Given the description of an element on the screen output the (x, y) to click on. 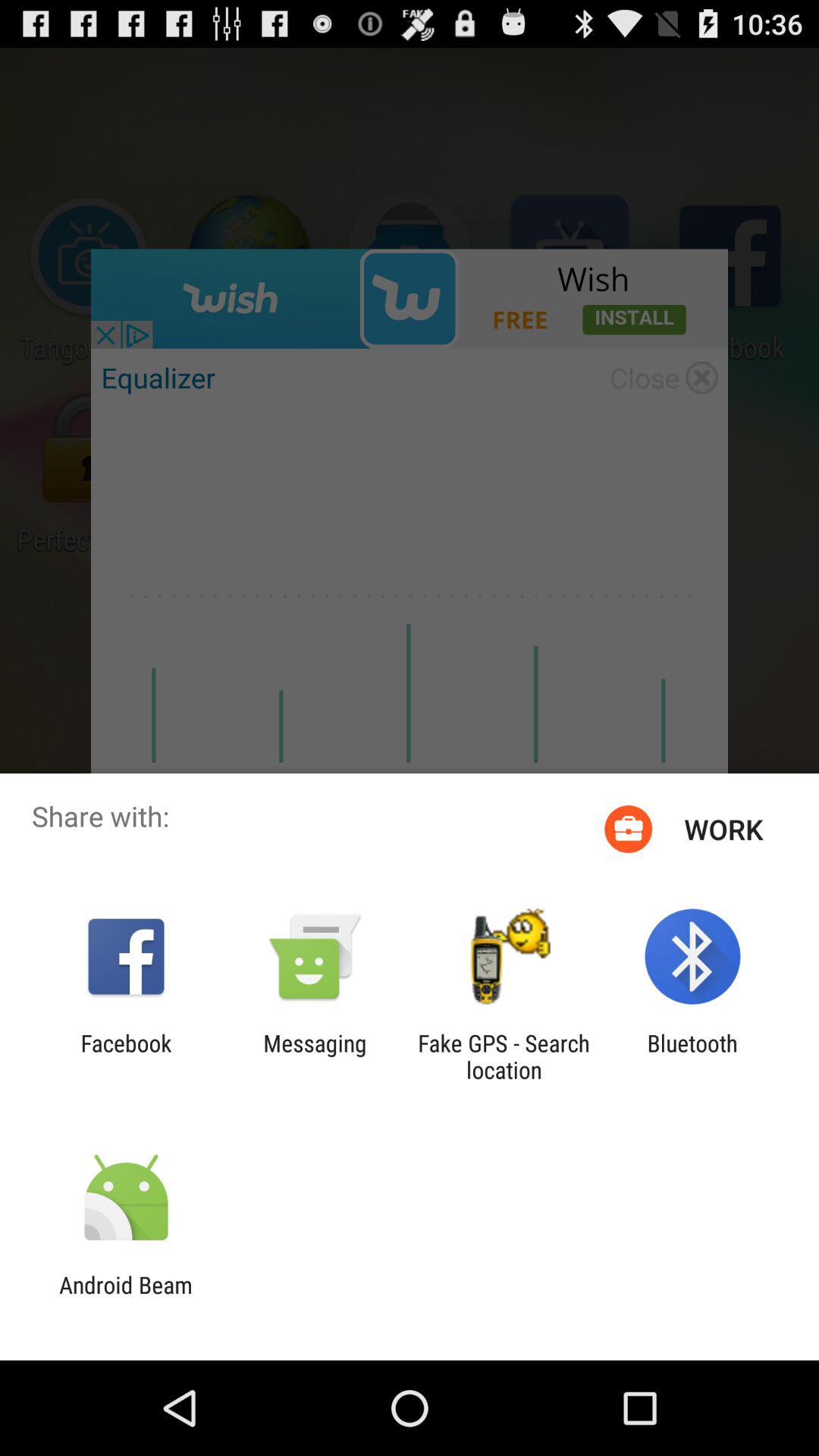
turn on the item next to messaging app (503, 1056)
